Given the description of an element on the screen output the (x, y) to click on. 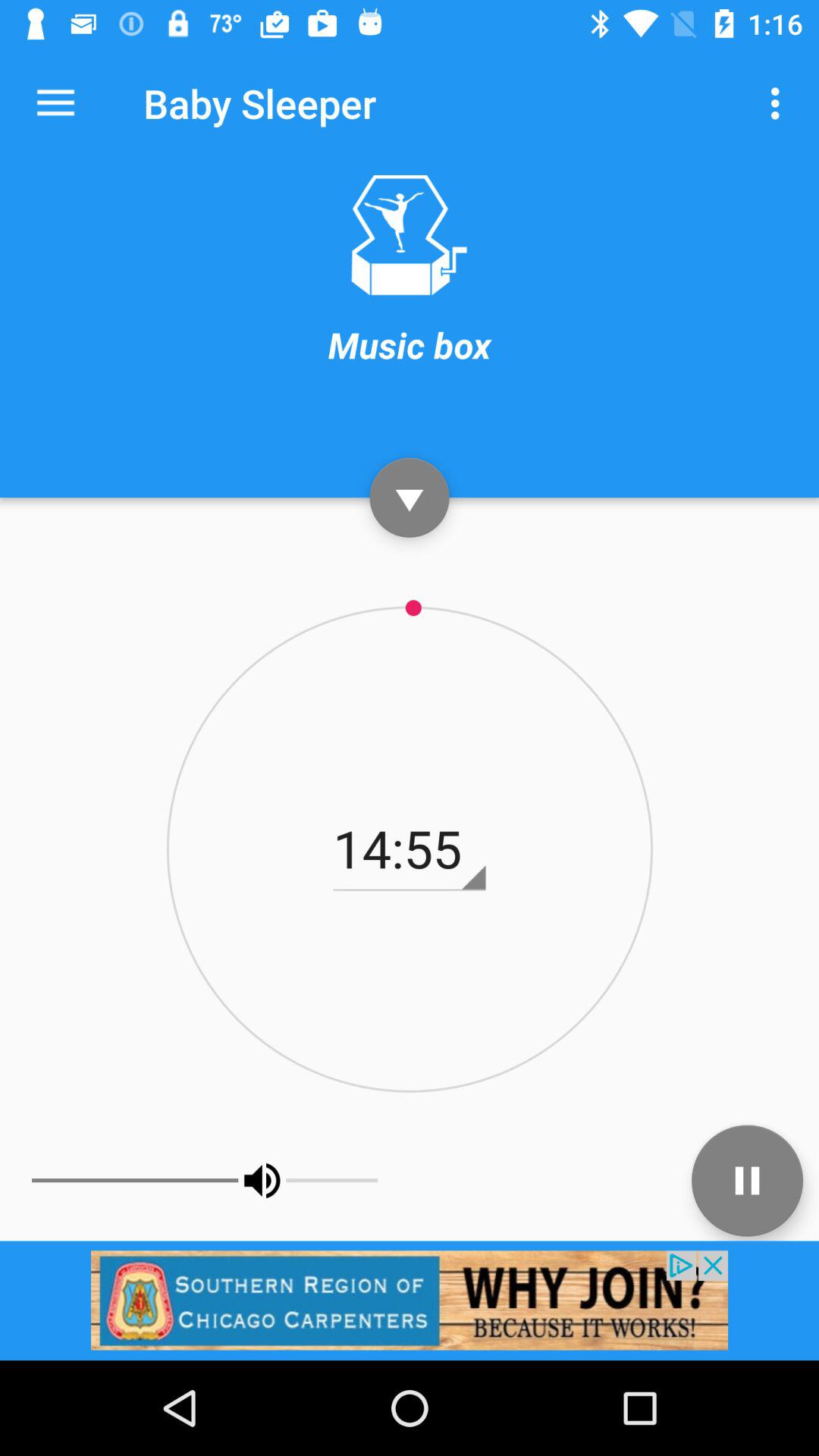
pause the track (747, 1180)
